Given the description of an element on the screen output the (x, y) to click on. 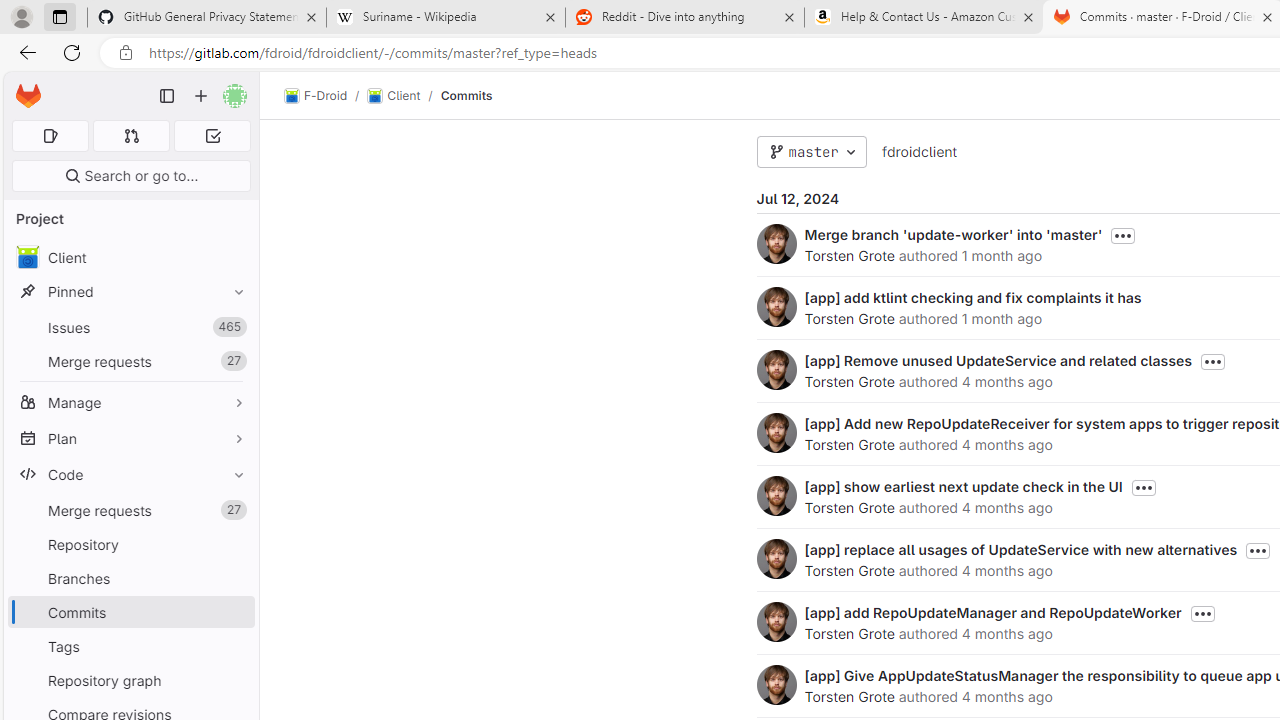
Torsten Grote's avatar (776, 684)
Repository (130, 543)
[app] show earliest next update check in the UI (962, 486)
Tags (130, 646)
Client/ (404, 96)
Torsten Grote (848, 696)
avatar (27, 257)
Suriname - Wikipedia (445, 17)
Assigned issues 0 (50, 136)
Unpin Issues (234, 327)
F-Droid/ (326, 96)
Merge requests 0 (131, 136)
GitHub General Privacy Statement - GitHub Docs (207, 17)
Help & Contact Us - Amazon Customer Service (924, 17)
Repository (130, 543)
